Given the description of an element on the screen output the (x, y) to click on. 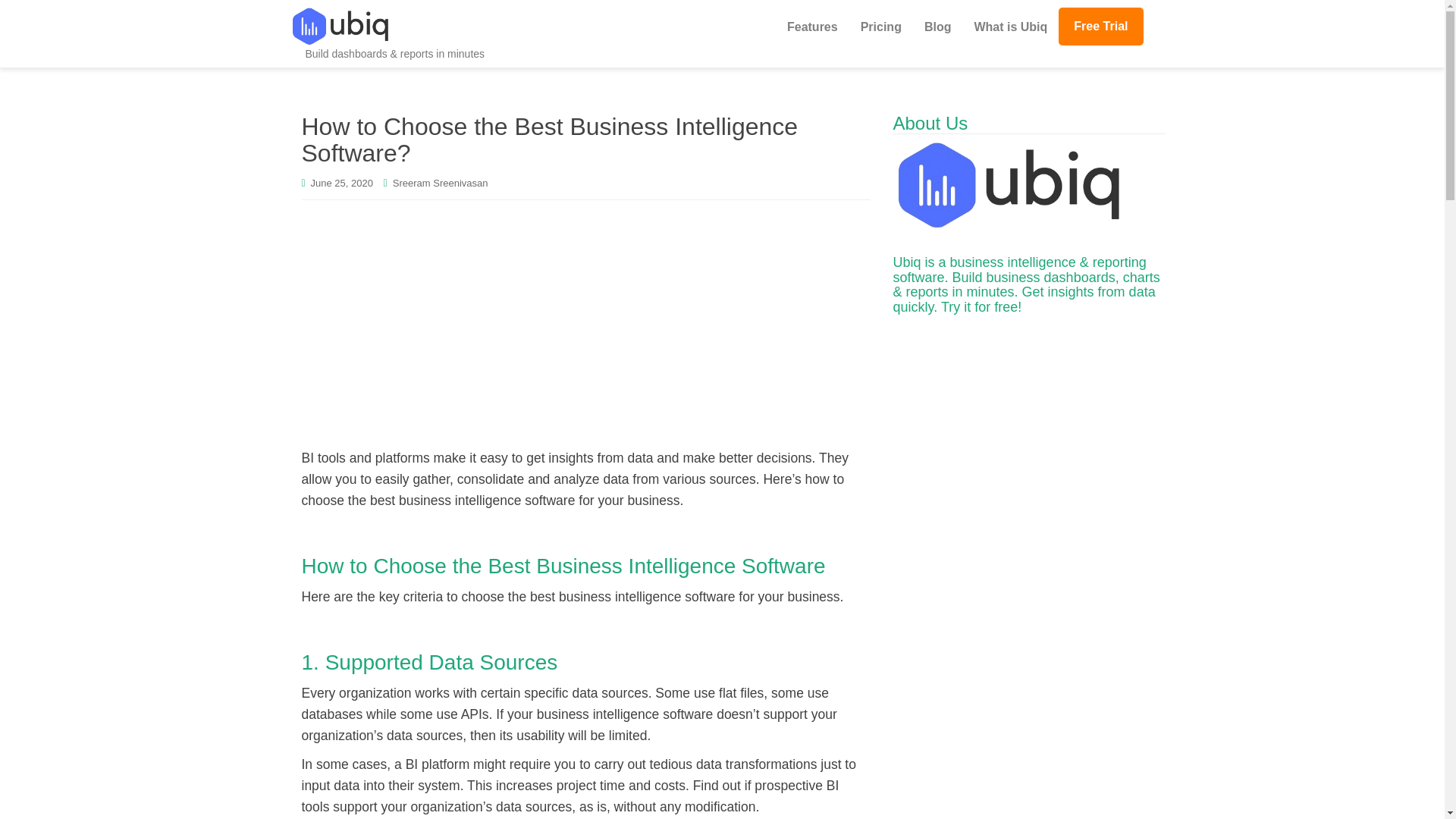
What is Ubiq (1010, 27)
What is Ubiq (1010, 27)
Free Trial (1100, 26)
Advertisement (585, 321)
Blog (937, 27)
Blog (937, 27)
Ubiq (907, 262)
June 25, 2020 (341, 183)
Advertisement (1029, 719)
Features (812, 27)
